Given the description of an element on the screen output the (x, y) to click on. 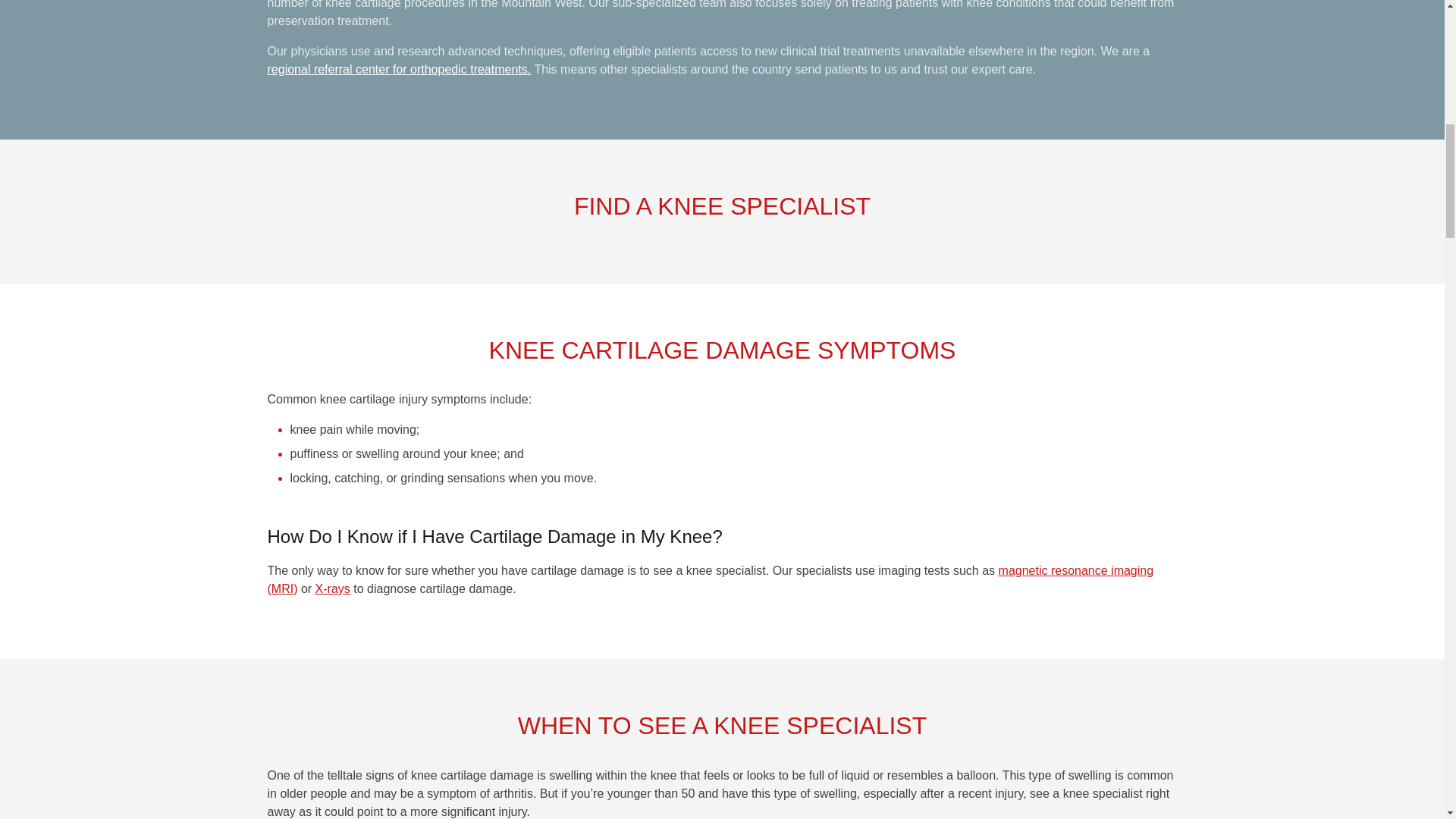
regional referral center for orthopedic treatments. (398, 69)
X-rays (332, 588)
University Orthopaedic Center (398, 69)
